Given the description of an element on the screen output the (x, y) to click on. 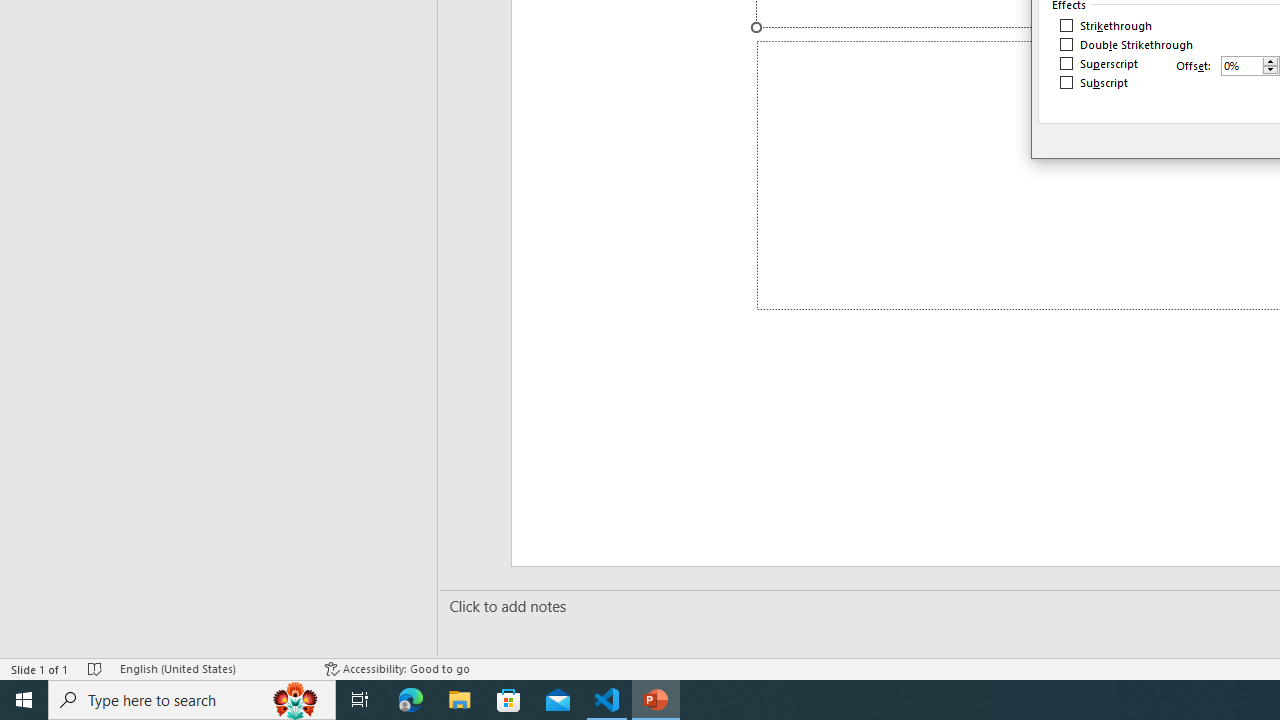
Offset (1250, 66)
Double Strikethrough (1127, 44)
Offset (1242, 65)
Start (24, 699)
Less (1270, 70)
